Given the description of an element on the screen output the (x, y) to click on. 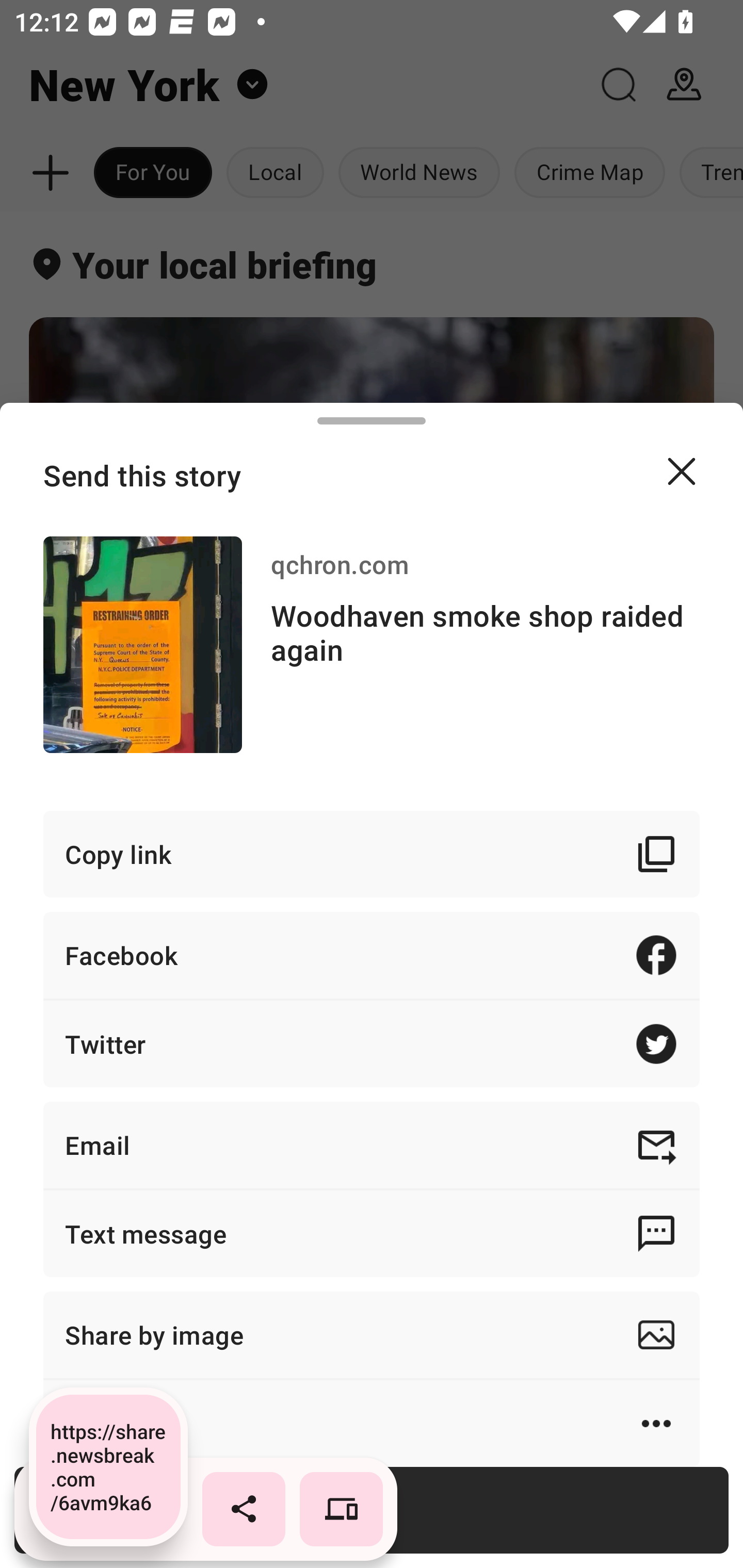
Copy link (371, 853)
Facebook (371, 955)
Twitter (371, 1043)
Email (371, 1145)
Text message (371, 1233)
Share by image (371, 1335)
